Given the description of an element on the screen output the (x, y) to click on. 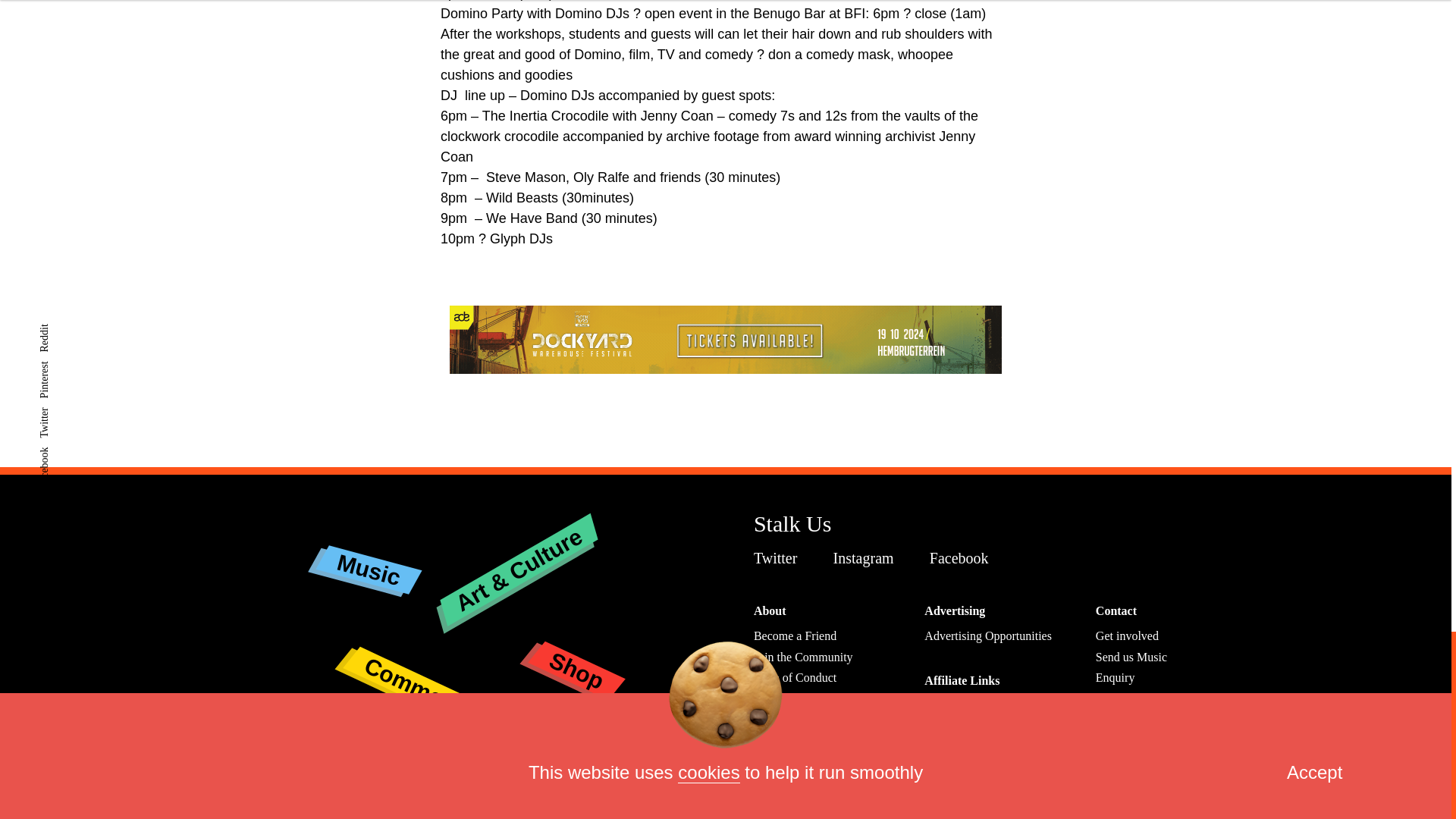
Enquiry (1115, 676)
Facebook (962, 558)
About (770, 610)
Commentary (431, 658)
Become a Friend (794, 635)
Contact (1116, 610)
Get involved (1127, 635)
Twitter (779, 558)
Shop (575, 652)
Send us Music (1131, 656)
Music (366, 557)
Instagram (866, 558)
